Given the description of an element on the screen output the (x, y) to click on. 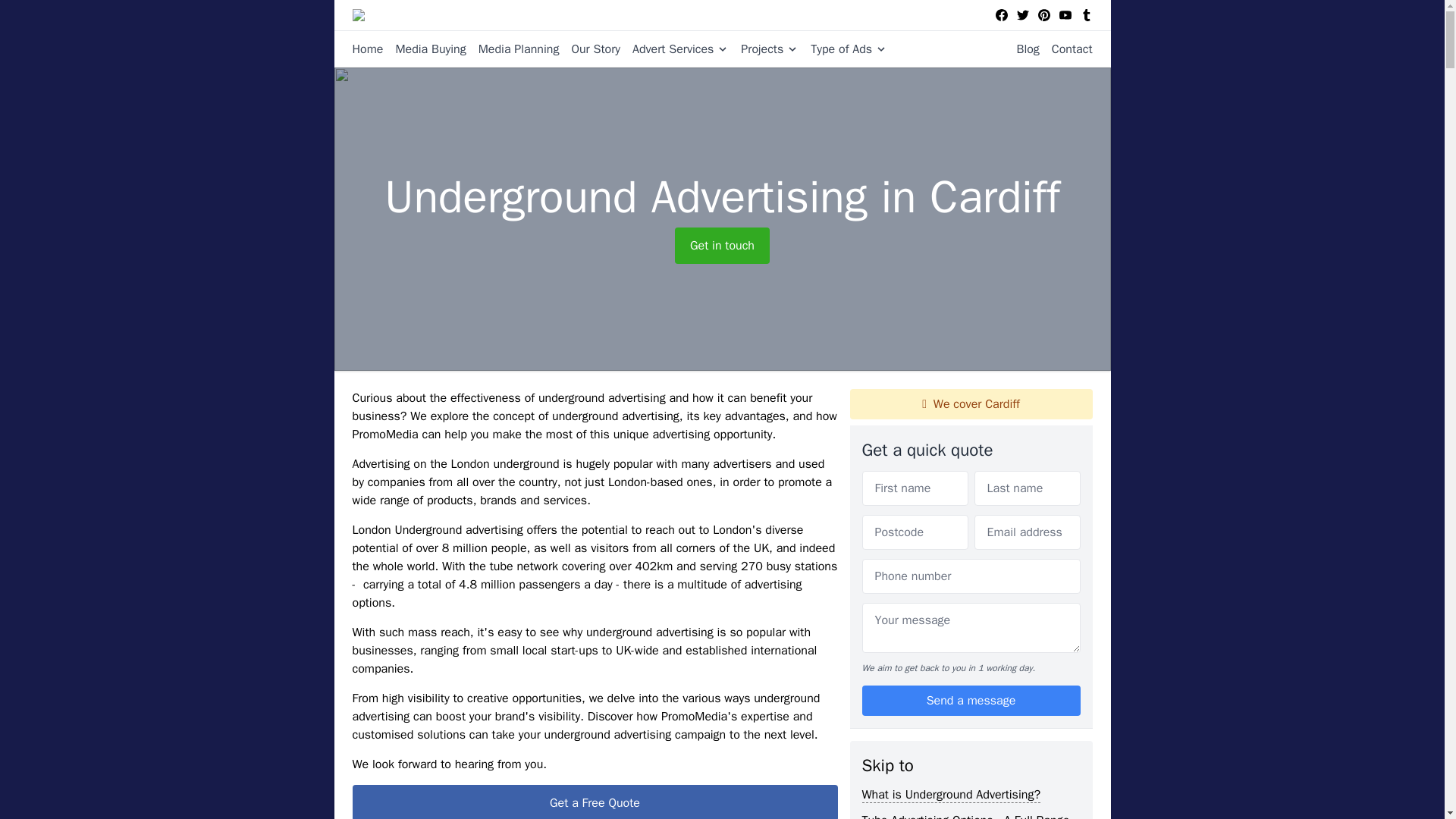
Advert Services (674, 49)
Media Planning (512, 49)
What is Underground Advertising? (951, 795)
Our Story (589, 49)
Projects (763, 49)
Home (367, 49)
Media Buying (423, 49)
Type of Ads (841, 49)
Tube Advertising Options - A Full Range of Options (964, 816)
